Given the description of an element on the screen output the (x, y) to click on. 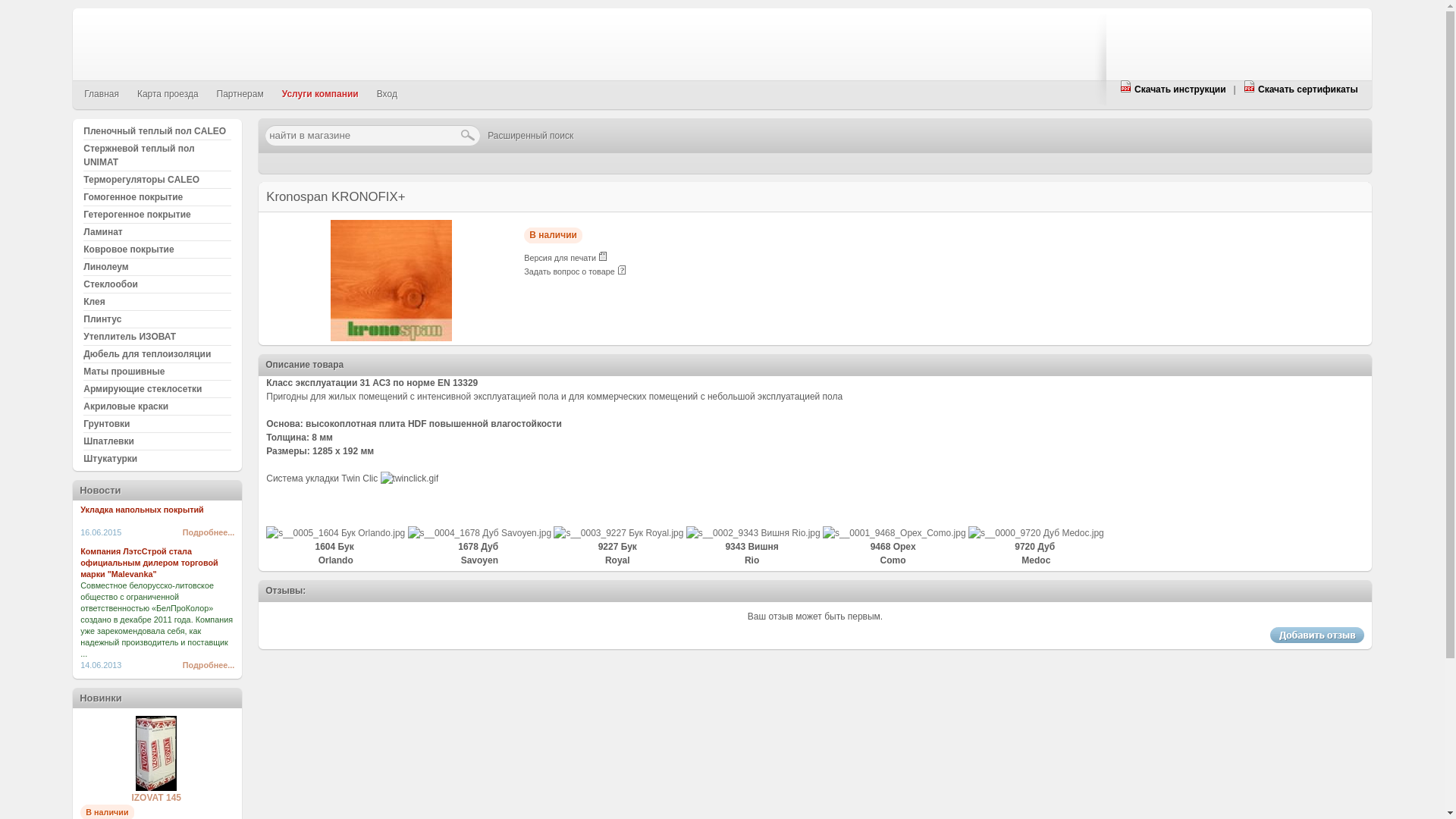
IZOVAT 145 Element type: hover (155, 787)
Kronospan KRONOFIX+ Element type: hover (390, 337)
IZOVAT 145 Element type: text (156, 797)
twinclick.gif Element type: hover (409, 478)
